Given the description of an element on the screen output the (x, y) to click on. 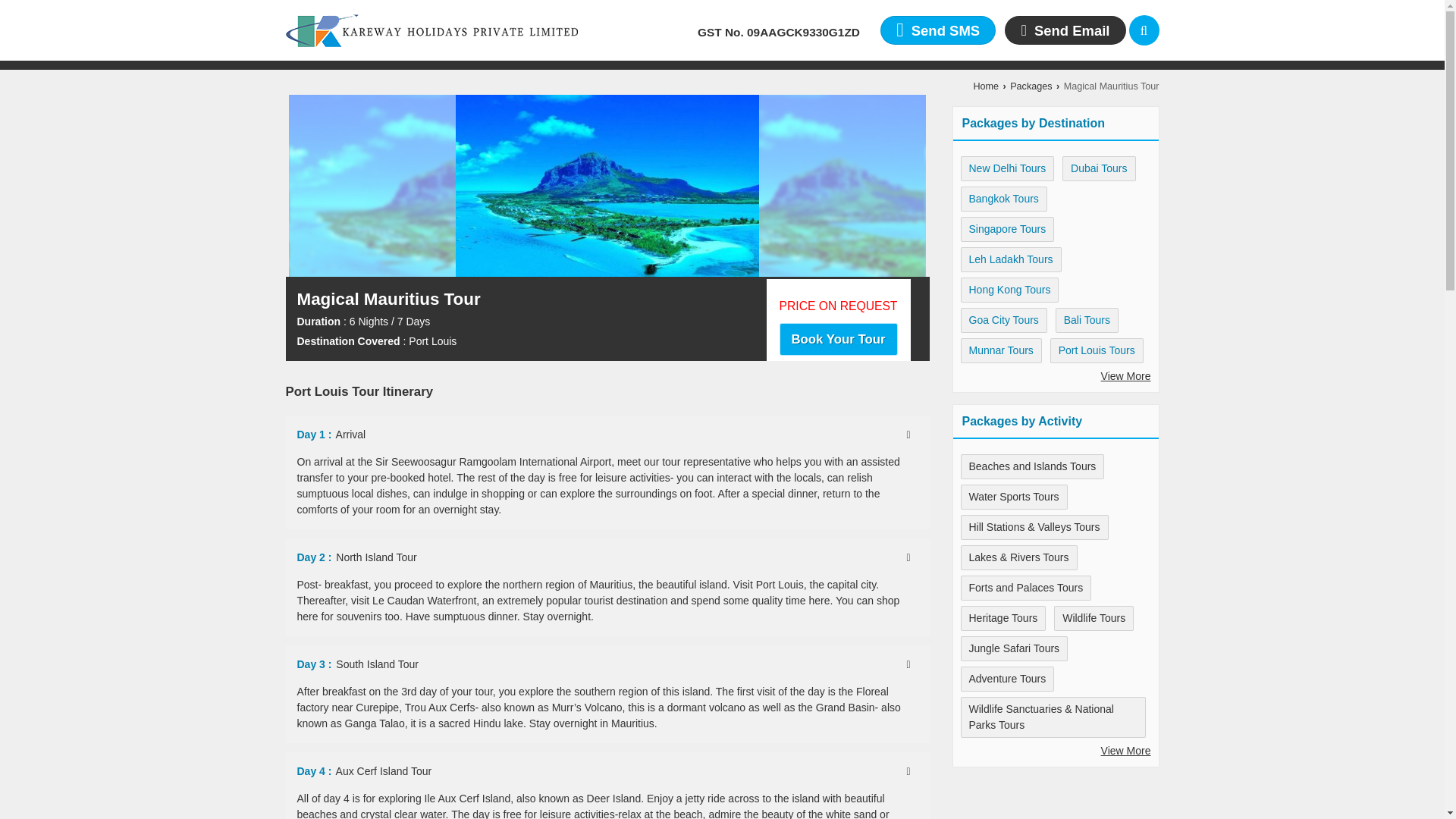
Search (1143, 30)
Send SMS (937, 29)
Kareway Holidays Pvt Ltd (430, 29)
Send Email (1064, 29)
